Given the description of an element on the screen output the (x, y) to click on. 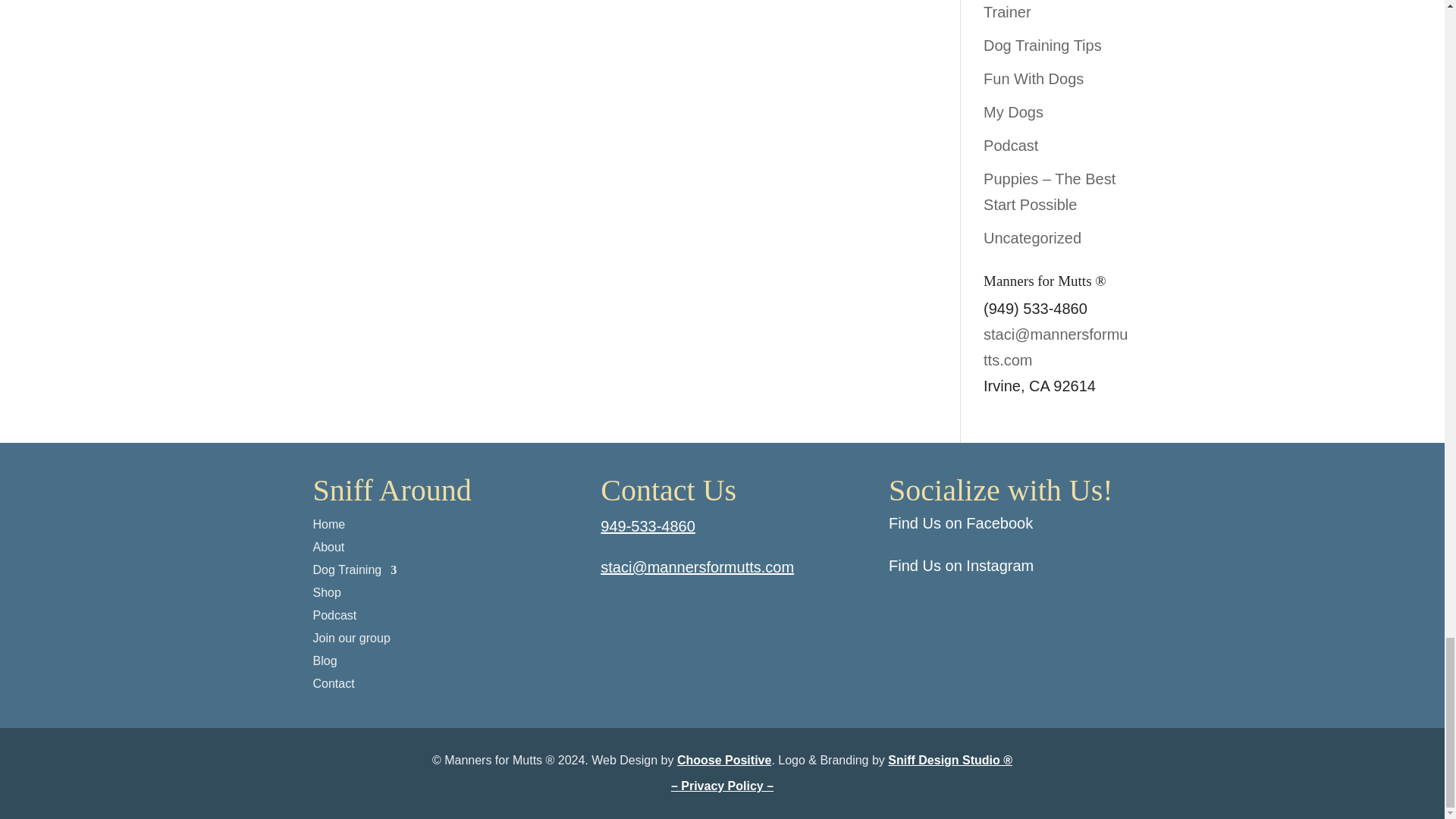
Find us on Instagram (960, 565)
Find us on Facebook (960, 523)
